Given the description of an element on the screen output the (x, y) to click on. 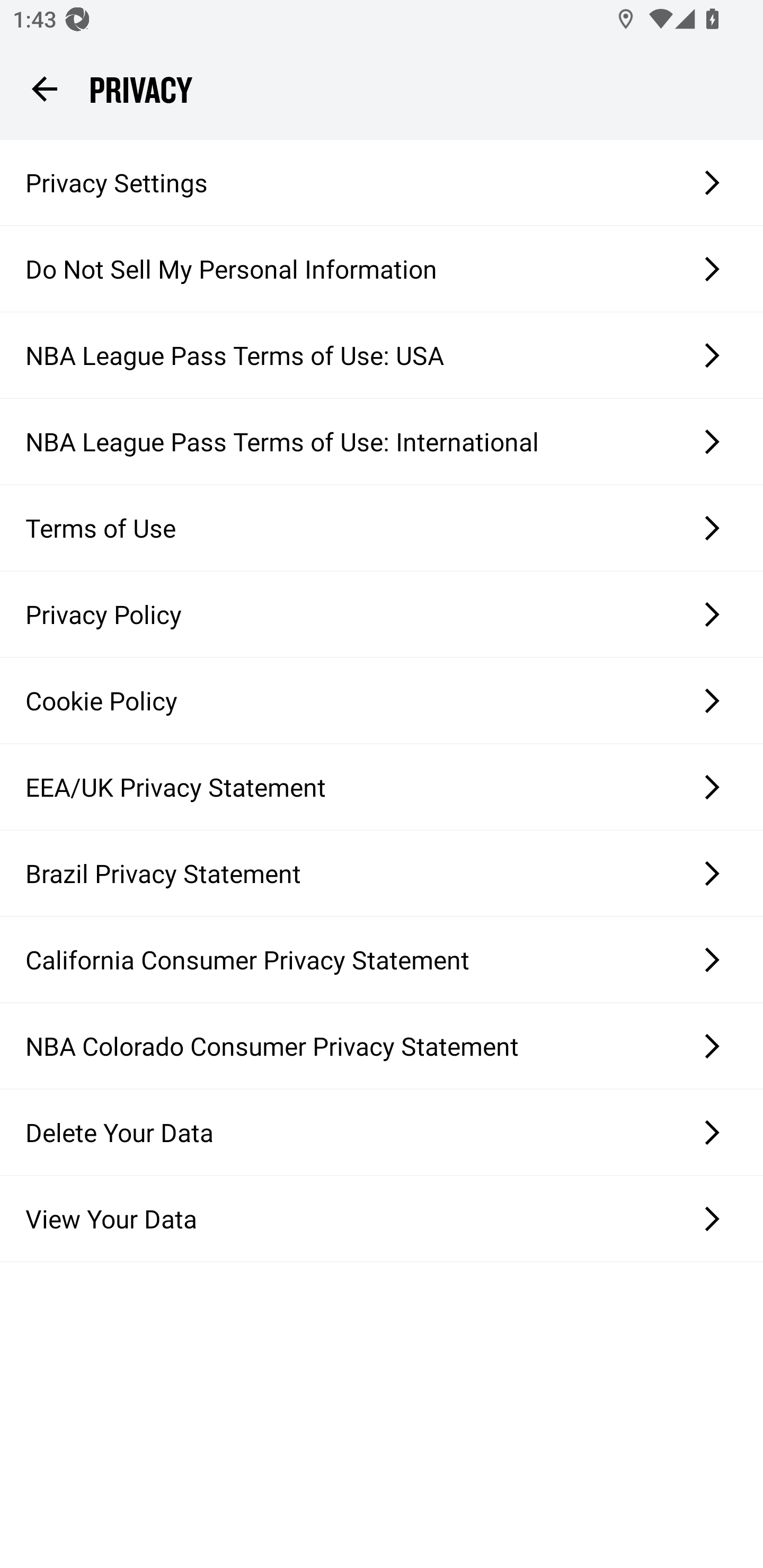
Back button (44, 88)
Privacy Settings (381, 182)
Do Not Sell My Personal Information (381, 268)
NBA League Pass Terms of Use: USA (381, 355)
NBA League Pass Terms of Use: International (381, 441)
Terms of Use (381, 527)
Privacy Policy (381, 614)
Cookie Policy (381, 700)
EEA/UK Privacy Statement (381, 786)
Brazil Privacy Statement (381, 873)
California Consumer Privacy Statement (381, 959)
NBA Colorado Consumer Privacy Statement (381, 1045)
Delete Your Data (381, 1131)
View Your Data (381, 1218)
